Given the description of an element on the screen output the (x, y) to click on. 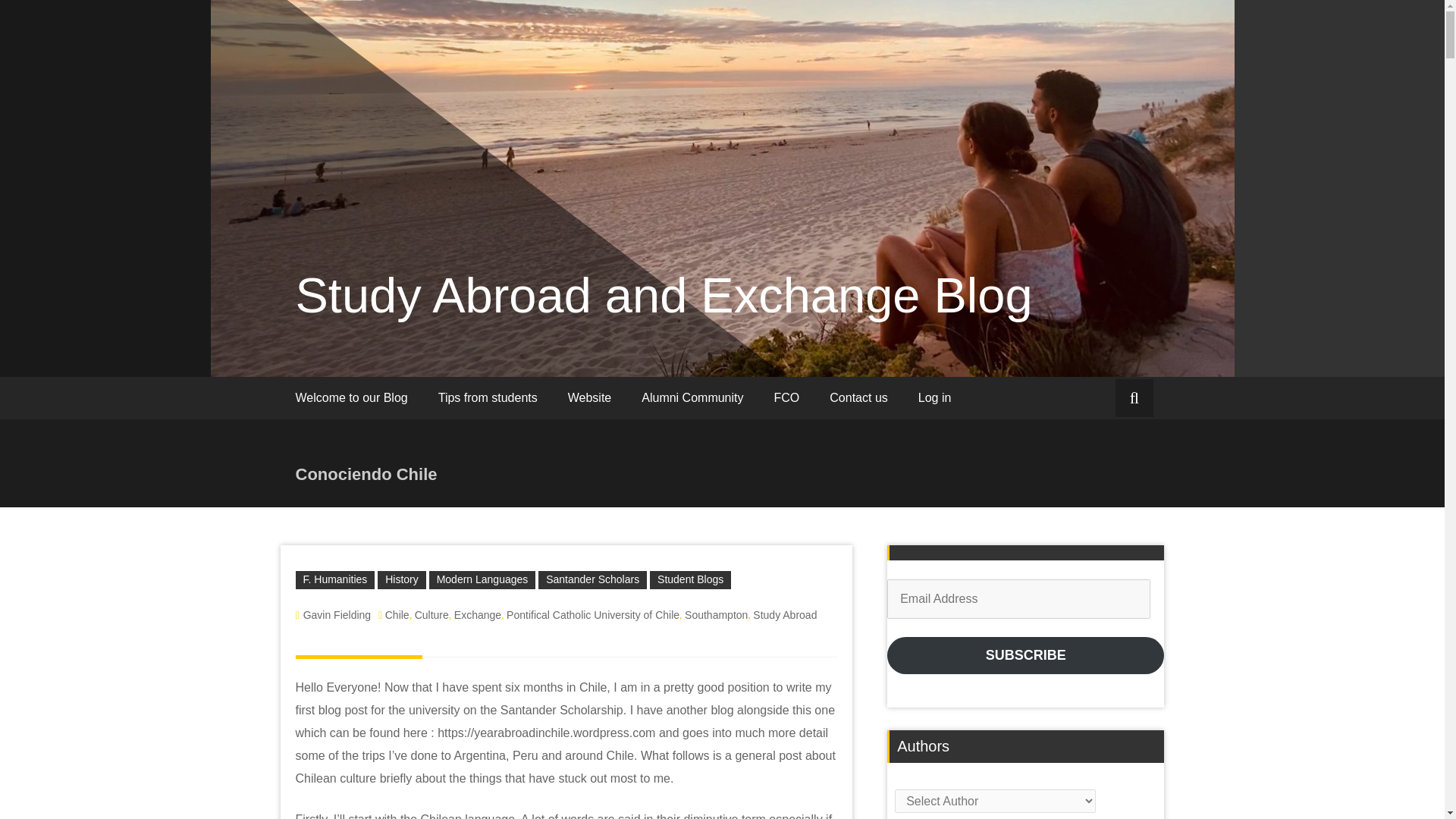
F. Humanities (335, 316)
Study Abroad and Exchange Blog (663, 31)
Santander Scholars (592, 316)
Chile (397, 351)
FCO (786, 134)
History (401, 316)
Modern Languages (482, 316)
Southampton (716, 351)
Gavin Fielding (336, 351)
Tips from students (488, 134)
